Given the description of an element on the screen output the (x, y) to click on. 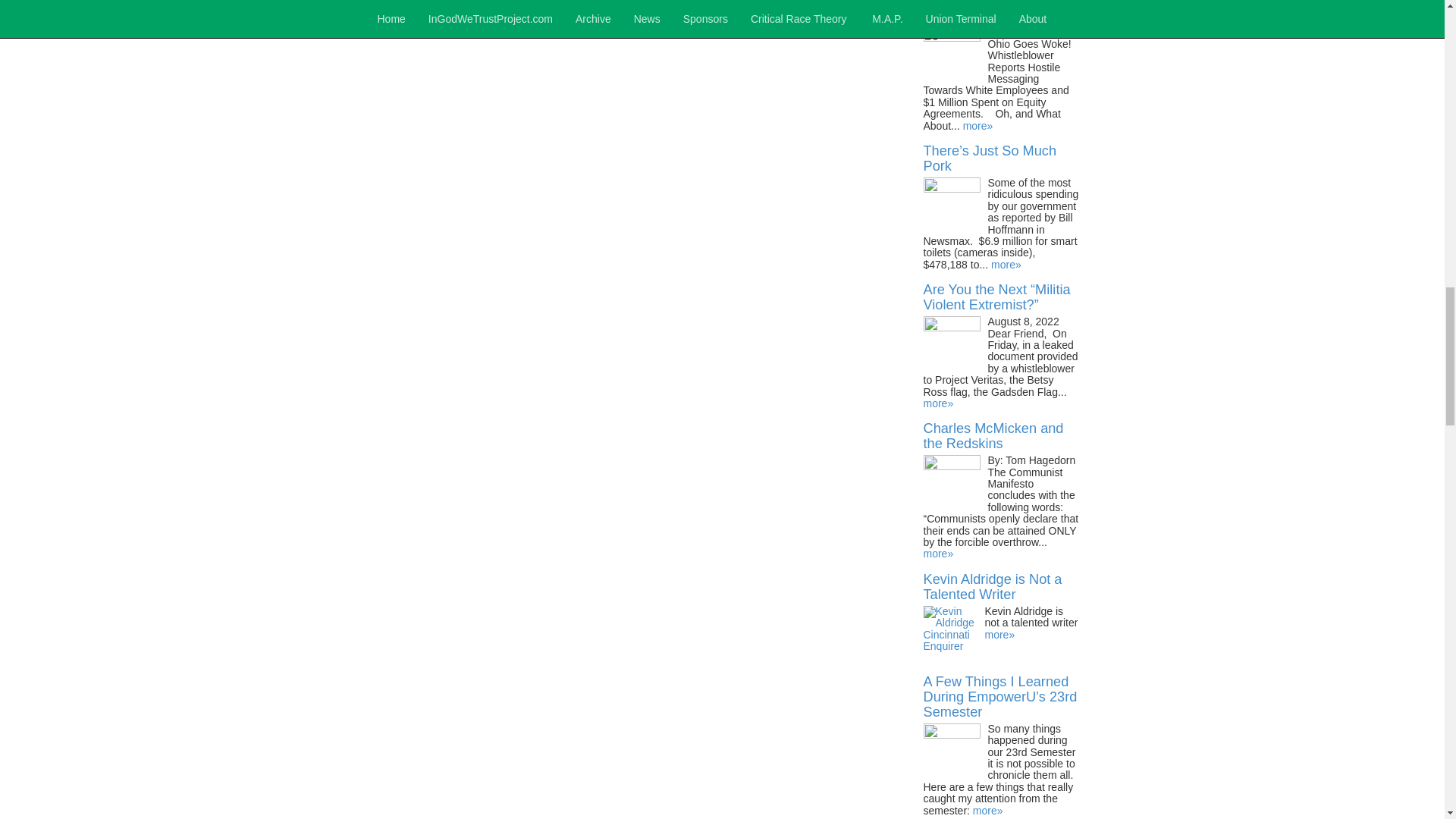
Hamilton County Goes Woke (992, 11)
